Given the description of an element on the screen output the (x, y) to click on. 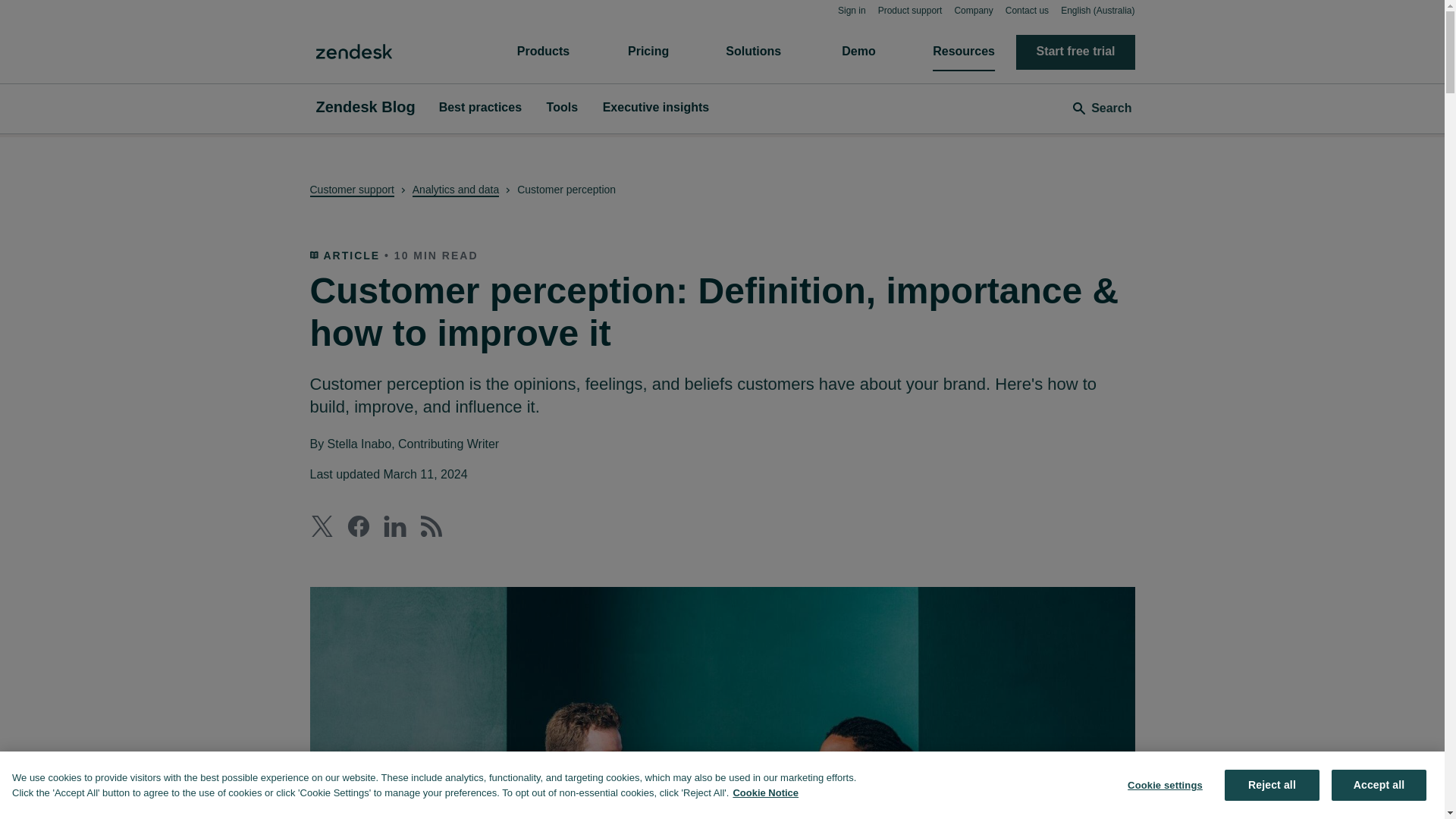
Contact us (1027, 9)
Start free trial (1075, 52)
Product support (909, 9)
Company (972, 9)
Sign in (852, 9)
